Given the description of an element on the screen output the (x, y) to click on. 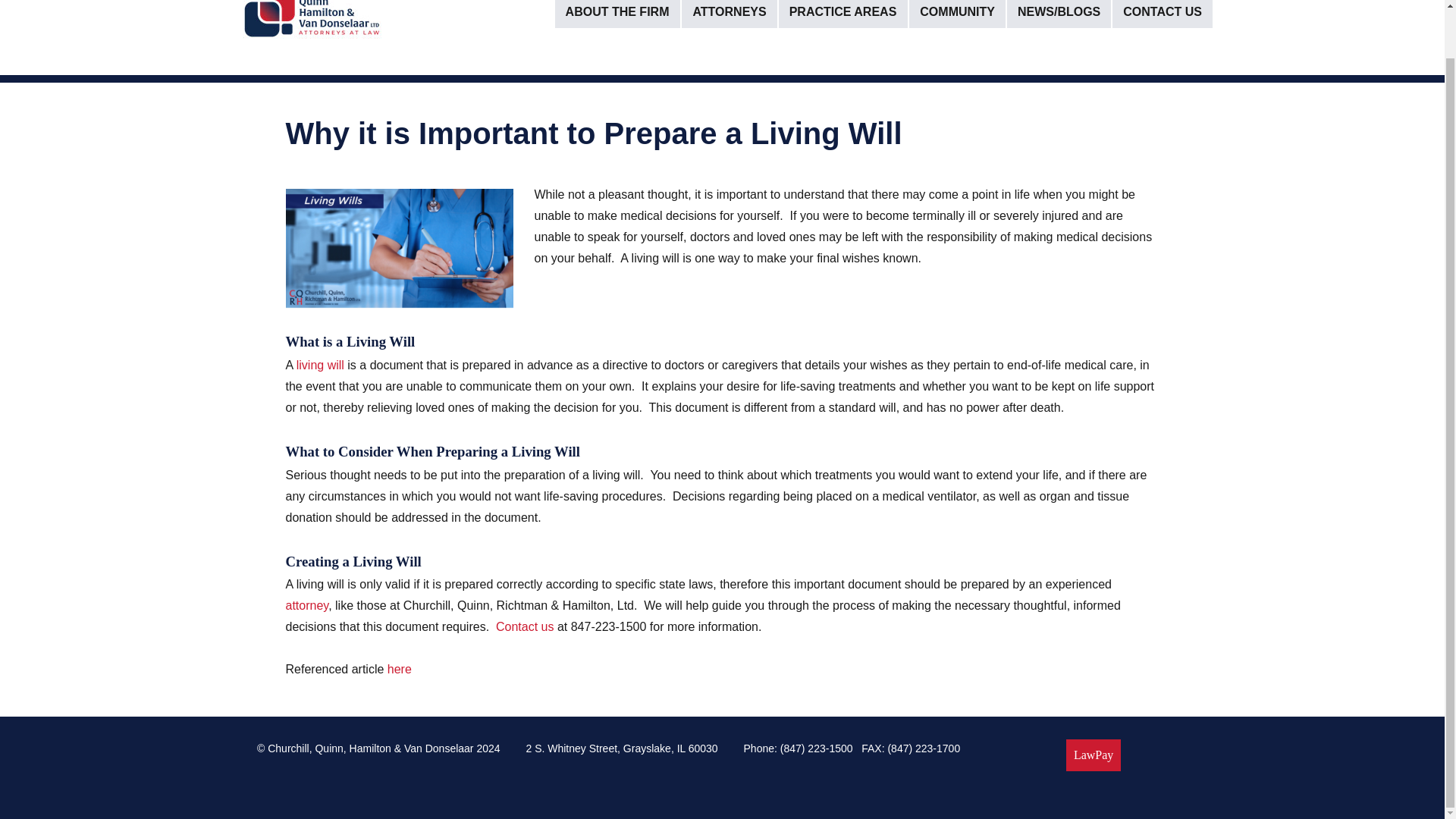
COMMUNITY (957, 13)
Contact us (524, 626)
ABOUT THE FIRM (617, 13)
living will (320, 364)
here (399, 668)
PRACTICE AREAS (842, 13)
CONTACT US (1162, 13)
ATTORNEYS (729, 13)
attorney (307, 604)
LawPay (1093, 755)
